Given the description of an element on the screen output the (x, y) to click on. 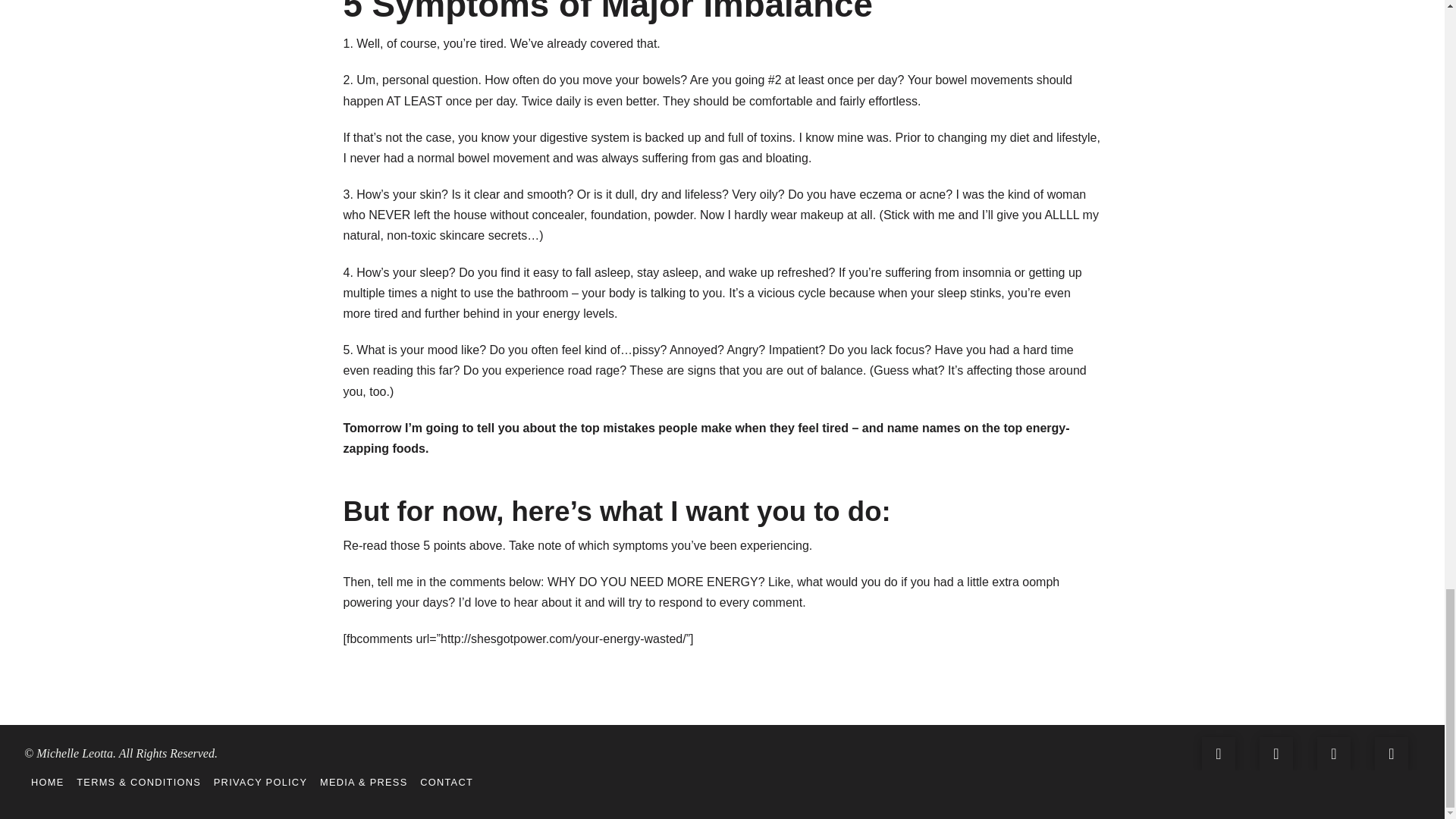
HOME (46, 782)
CONTACT (446, 782)
PRIVACY POLICY (259, 782)
